Given the description of an element on the screen output the (x, y) to click on. 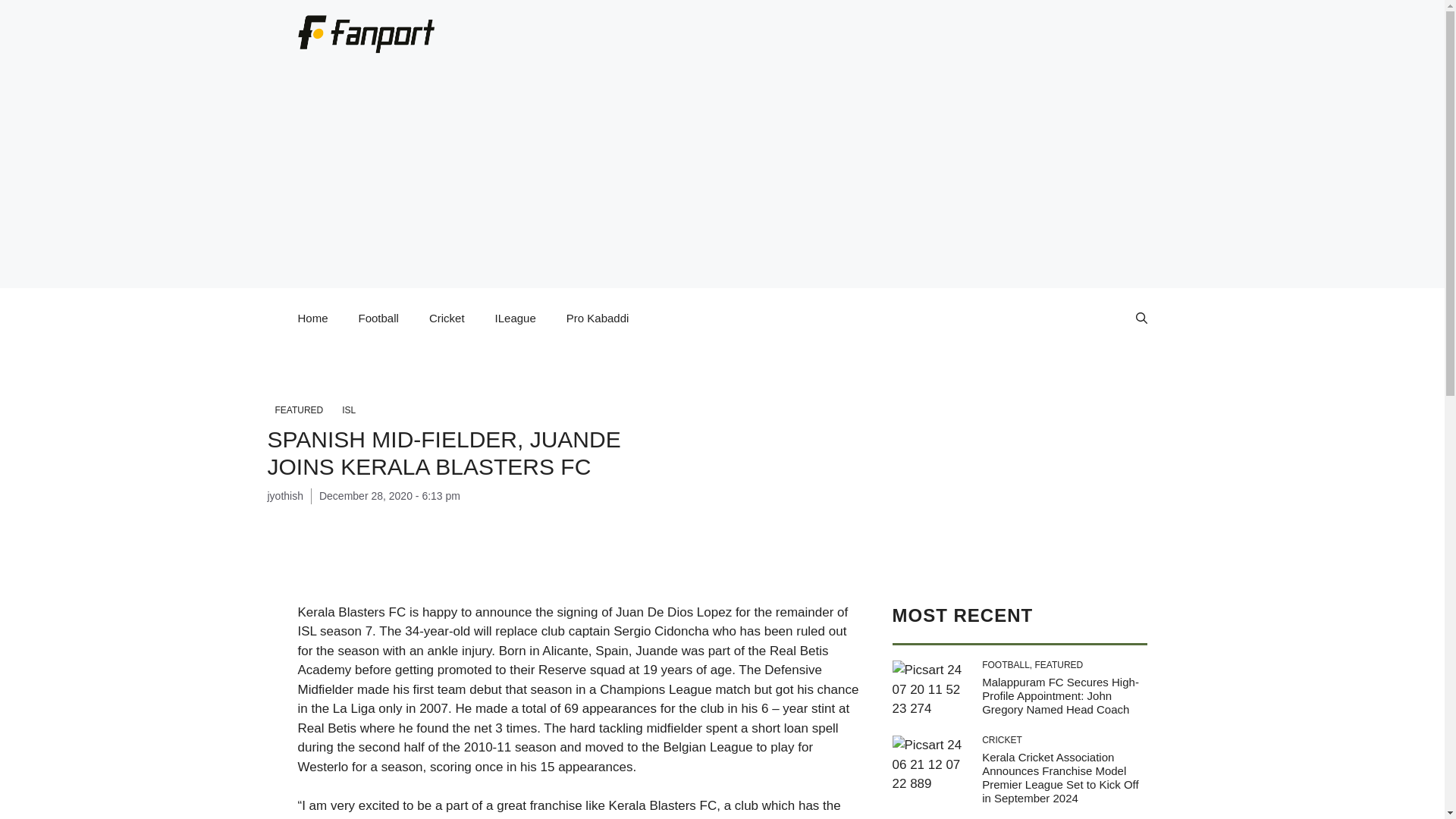
Football (378, 318)
Cricket (446, 318)
Pro Kabaddi (598, 318)
Home (312, 318)
ILeague (515, 318)
jyothish (284, 495)
FEATURED (298, 410)
ISL (348, 410)
